Given the description of an element on the screen output the (x, y) to click on. 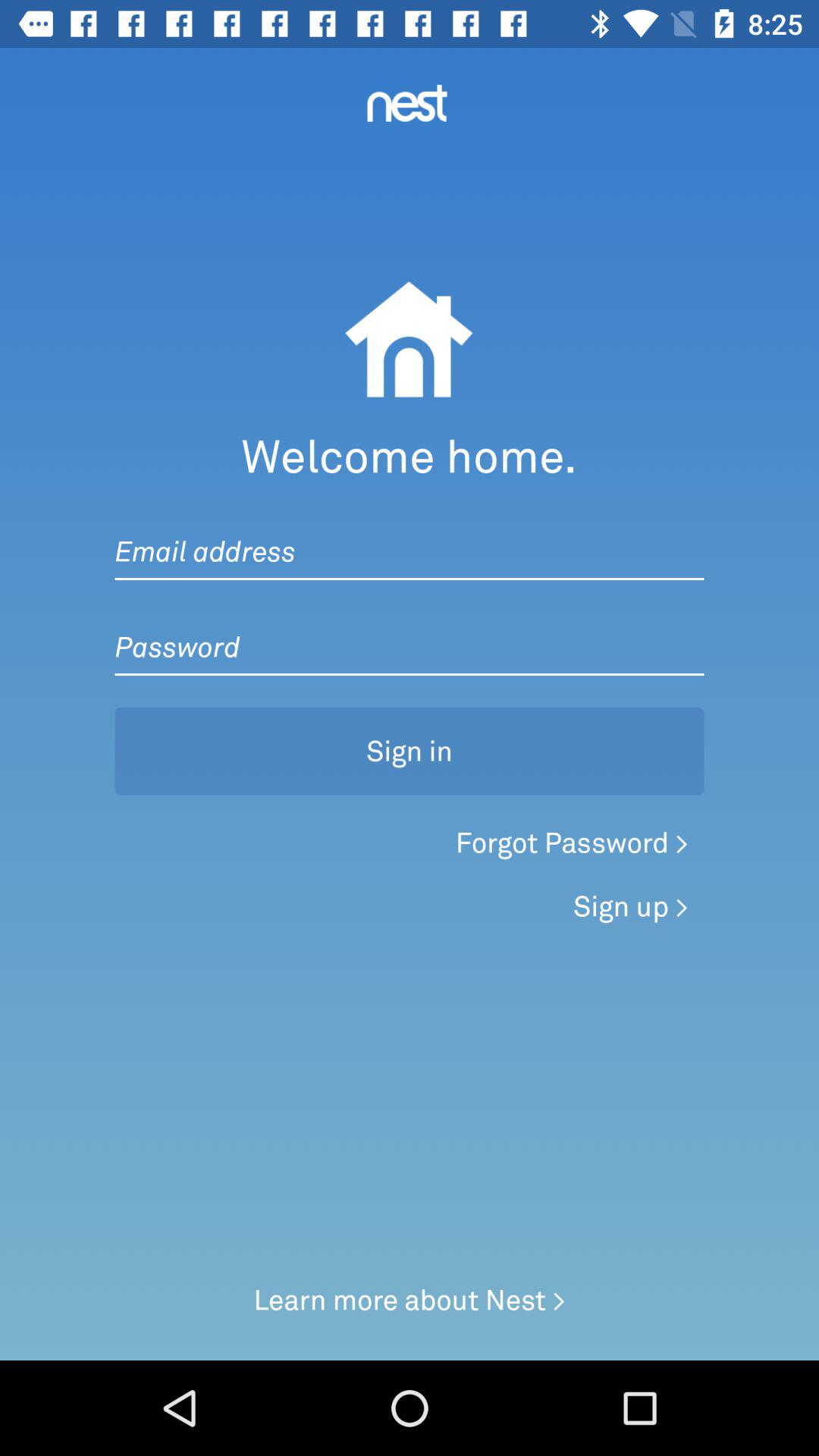
select text field (409, 536)
